Given the description of an element on the screen output the (x, y) to click on. 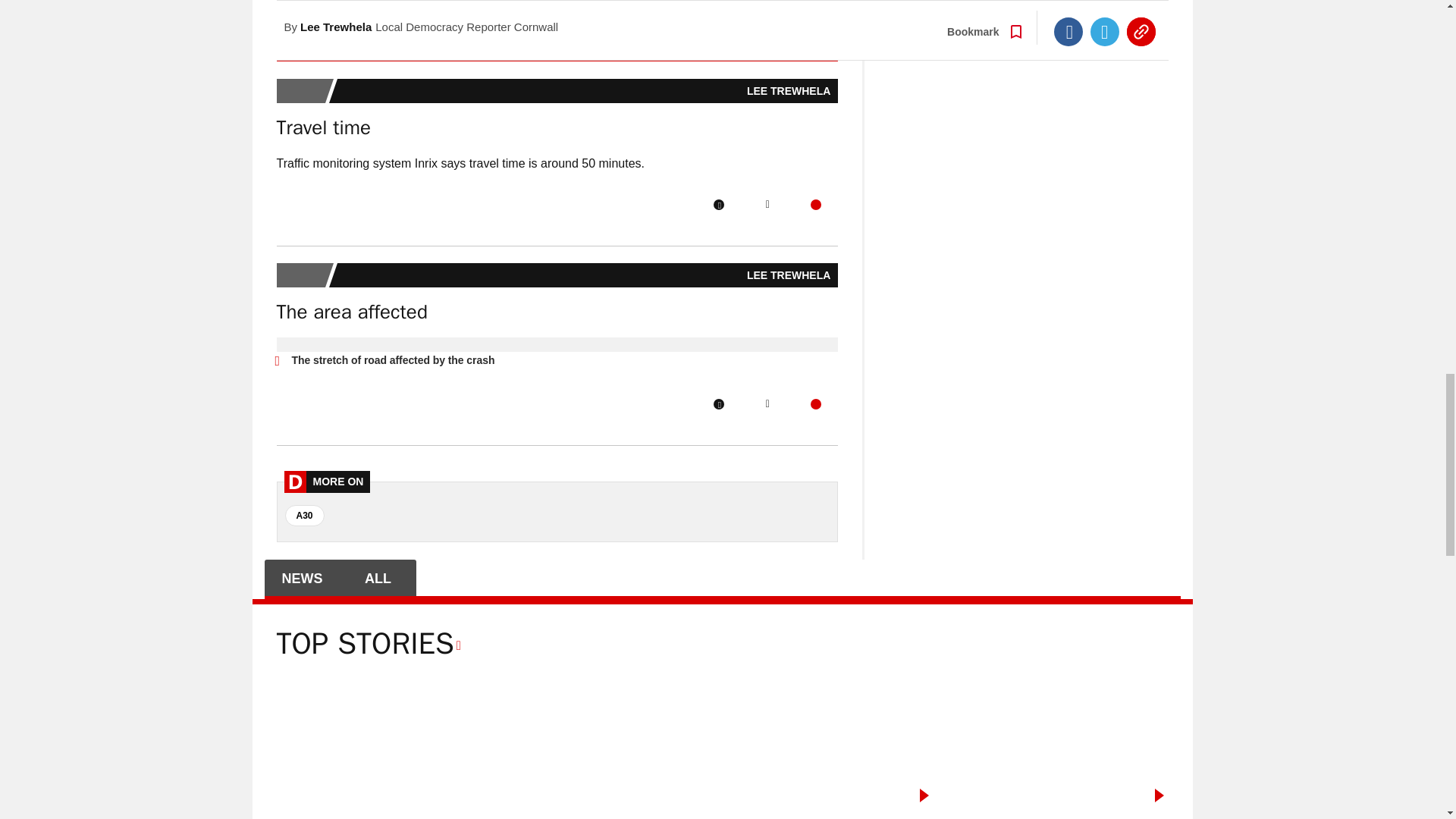
Facebook (718, 403)
Twitter (767, 403)
Twitter (766, 15)
Facebook (718, 15)
Twitter (767, 204)
Facebook (718, 204)
